Given the description of an element on the screen output the (x, y) to click on. 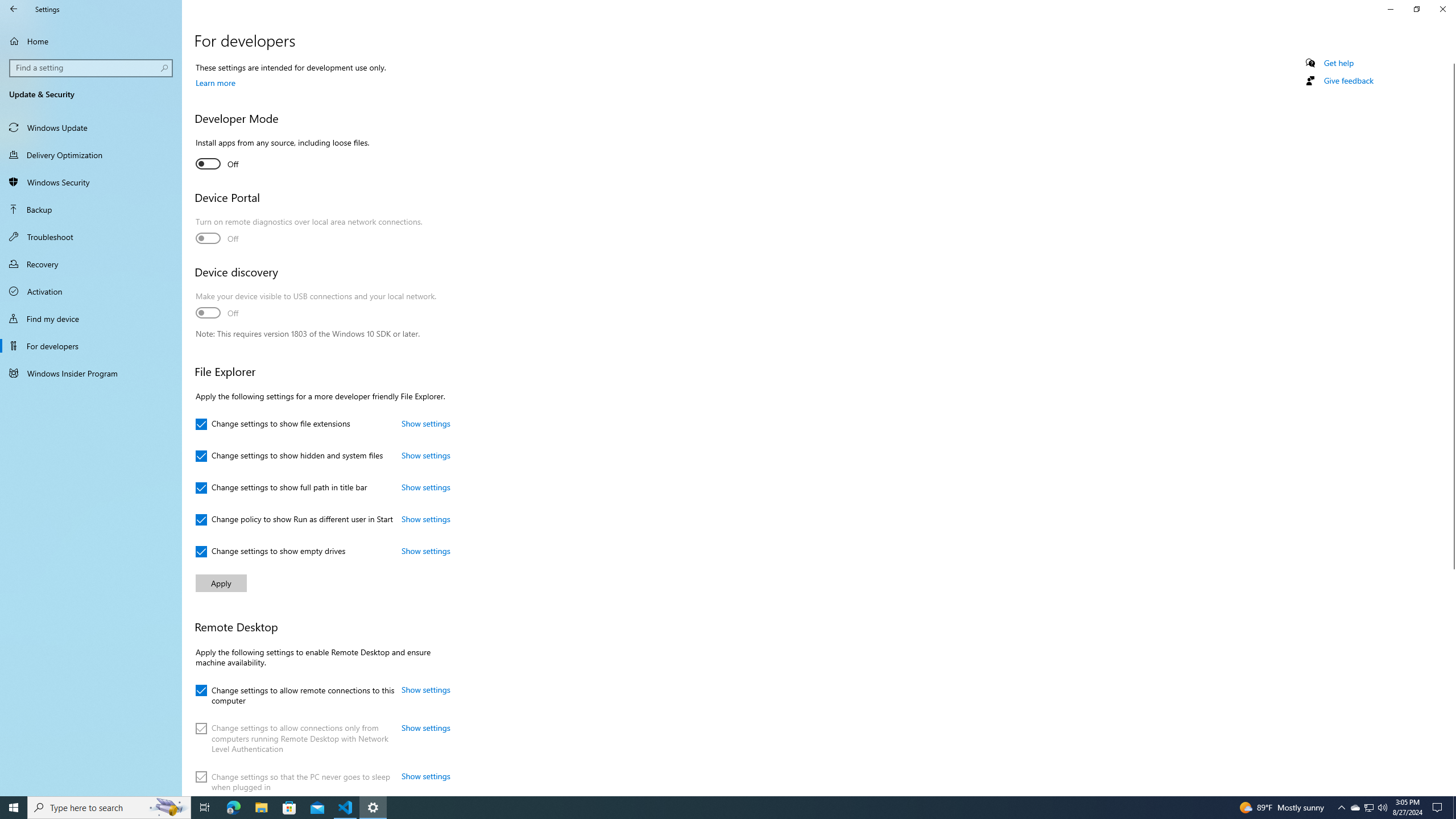
Troubleshoot (91, 236)
Apply (221, 583)
Windows Insider Program (91, 372)
Get help (1338, 62)
Recovery (91, 263)
Change settings to show empty drives (270, 551)
Change settings to allow remote connections to this computer (294, 693)
